Given the description of an element on the screen output the (x, y) to click on. 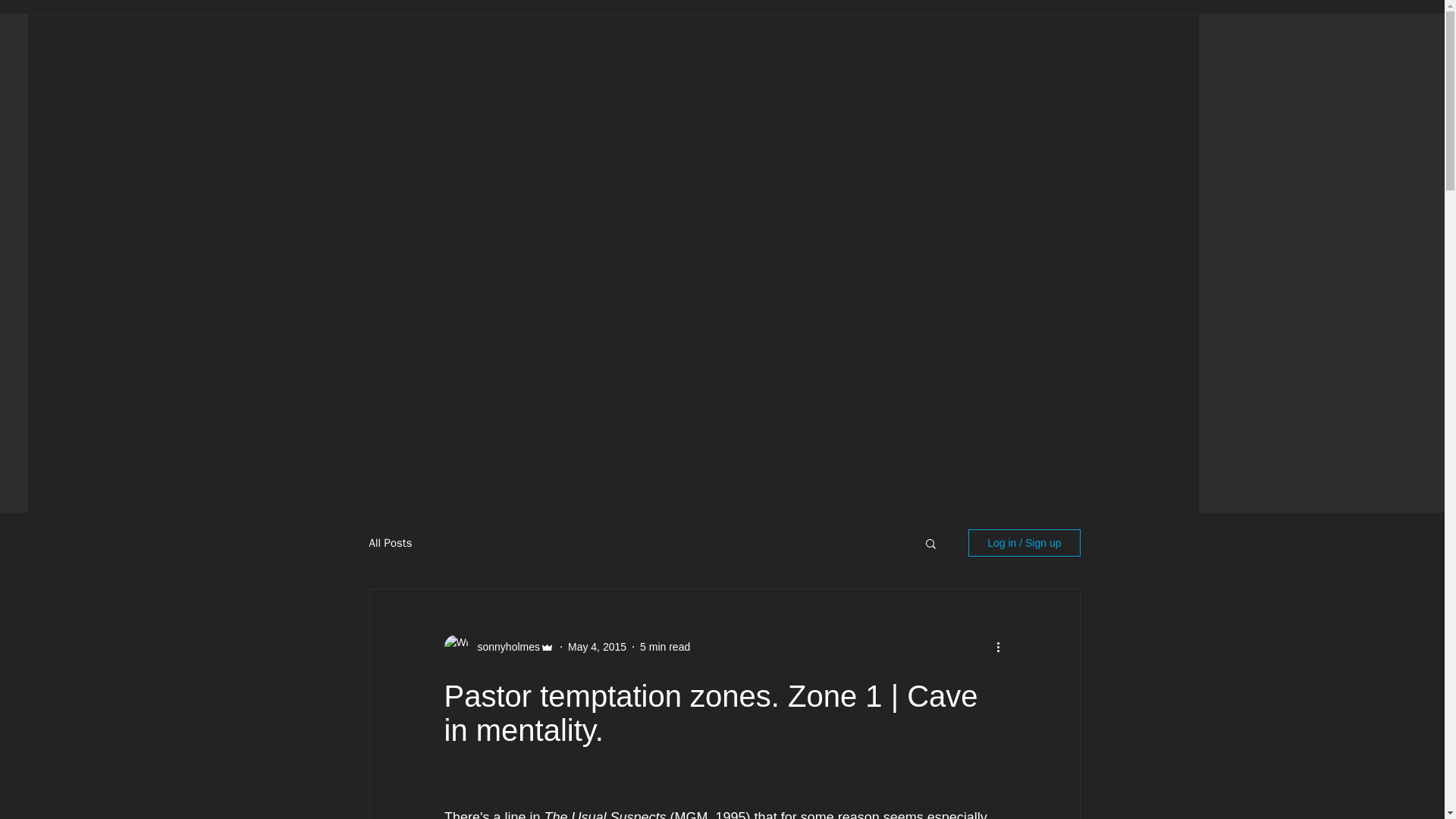
All Posts (390, 542)
sonnyholmes (504, 646)
5 min read (665, 645)
May 4, 2015 (596, 645)
